Given the description of an element on the screen output the (x, y) to click on. 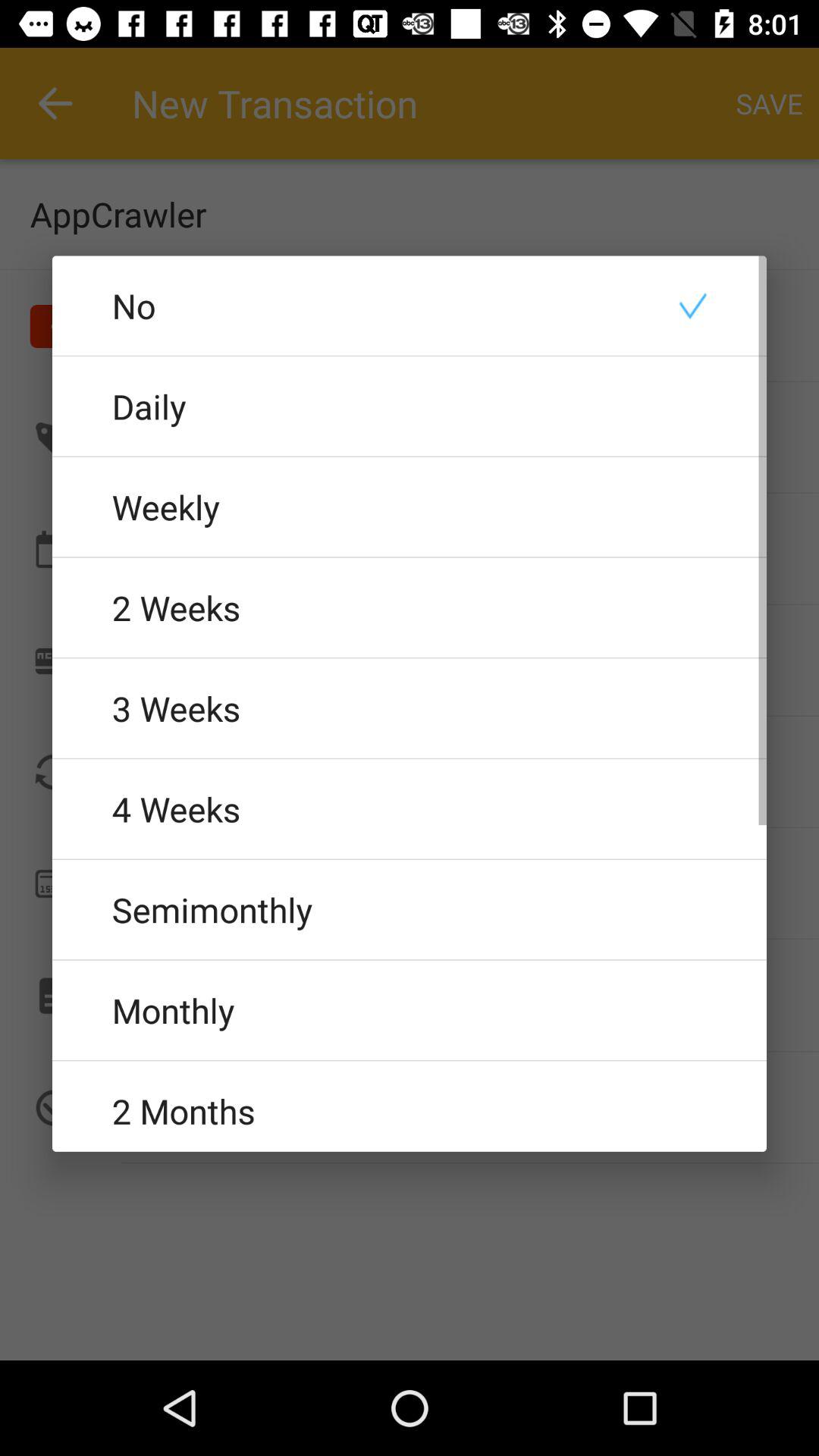
turn on 2 months icon (409, 1106)
